Given the description of an element on the screen output the (x, y) to click on. 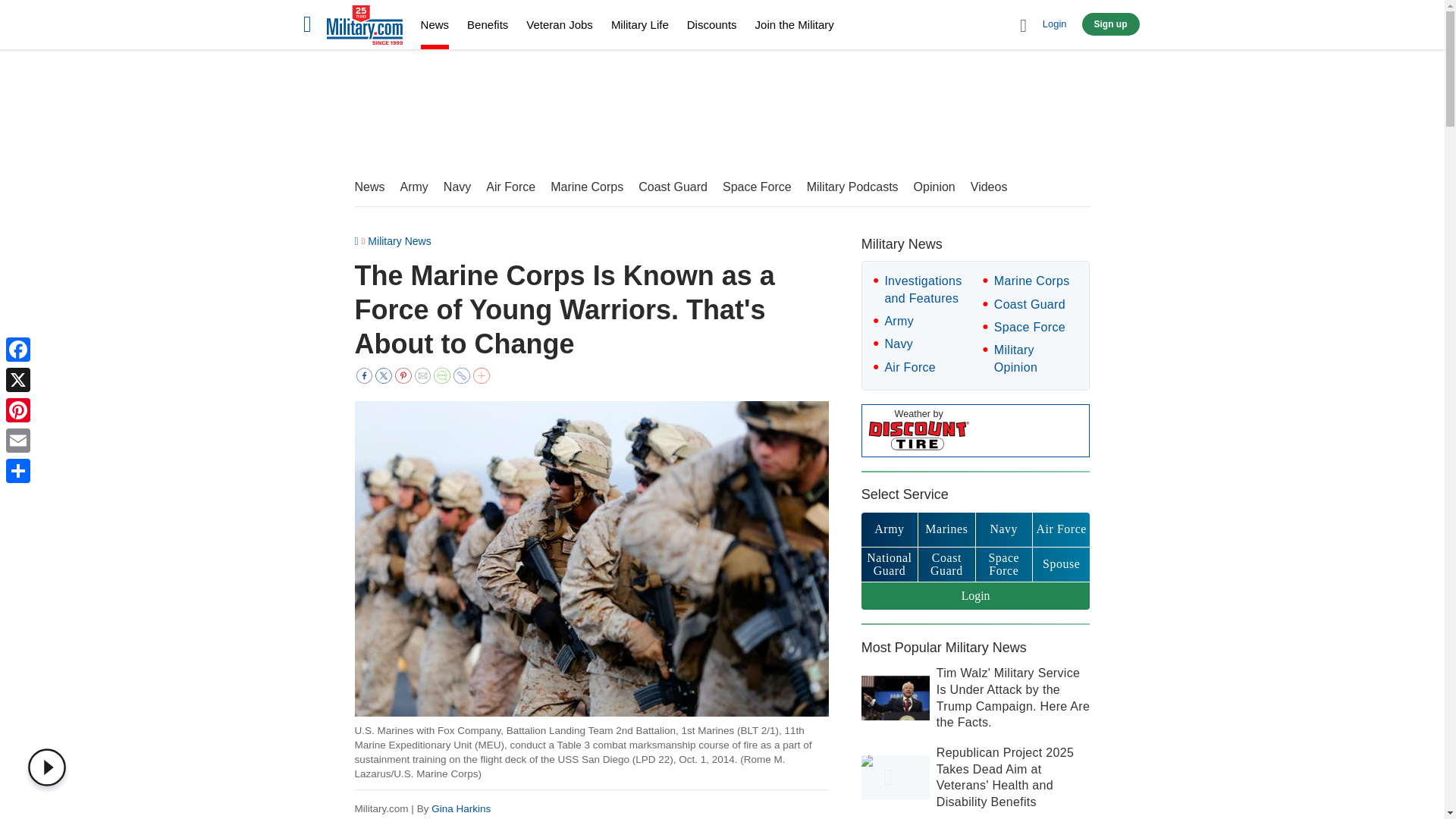
Trinity Audio Player (50, 768)
Marines login link (946, 529)
Air Force login link (1060, 529)
Home (364, 27)
Spouse login link (1060, 564)
Veteran Jobs (558, 24)
Space Force login link (1003, 564)
Military Life (639, 24)
Navy login link (1003, 529)
Army login link (889, 529)
